Given the description of an element on the screen output the (x, y) to click on. 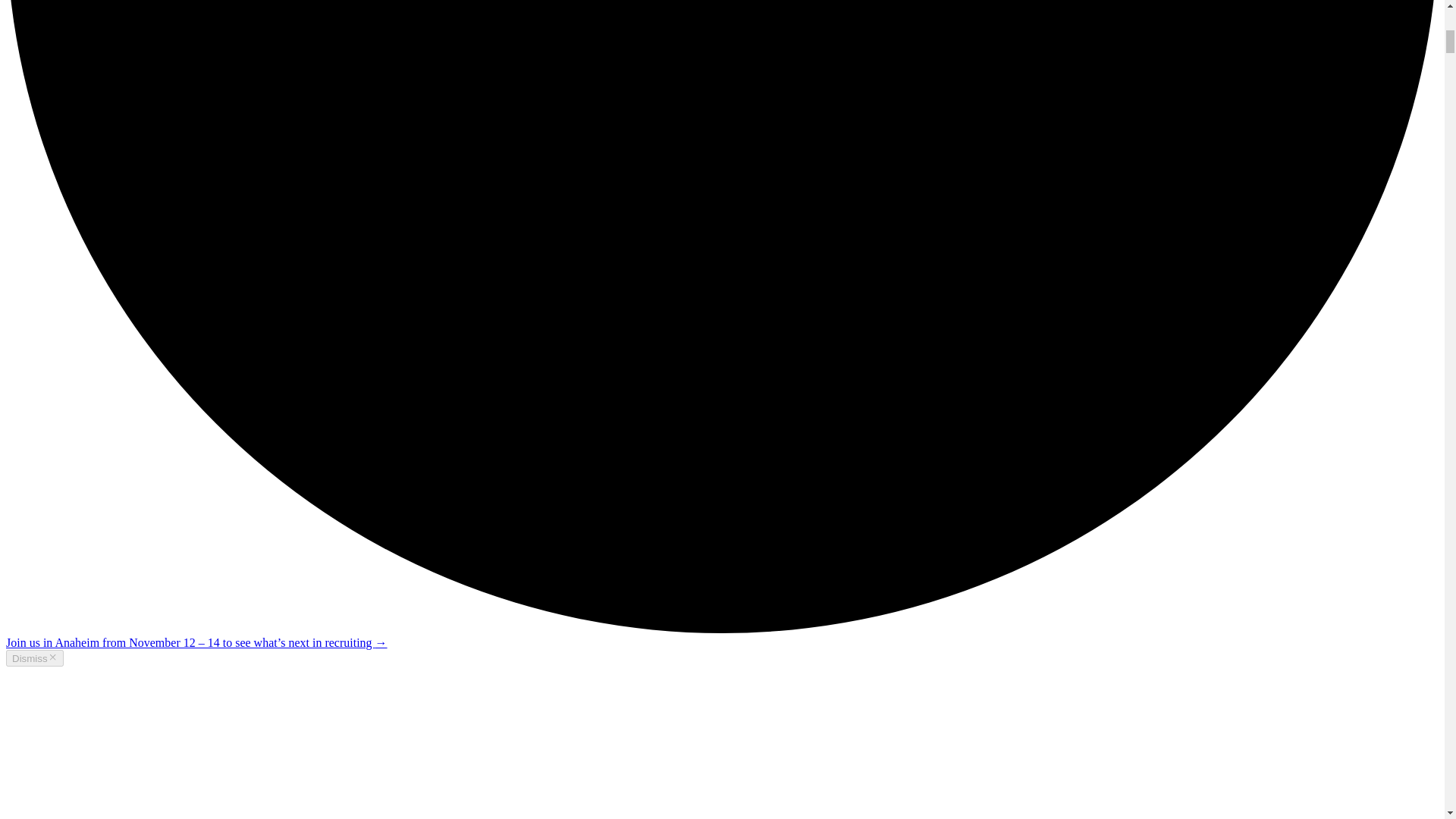
Dismiss (34, 658)
